Given the description of an element on the screen output the (x, y) to click on. 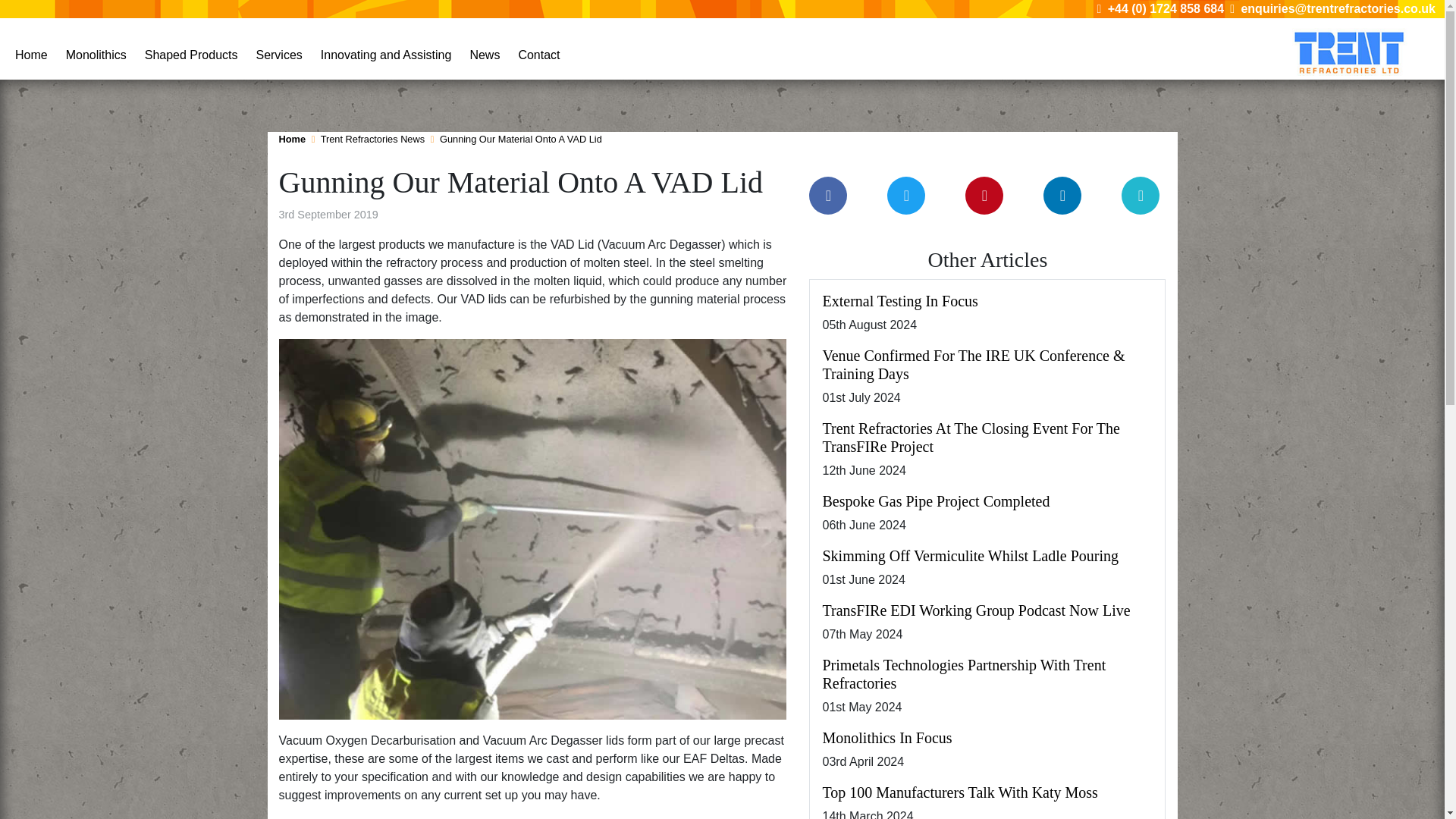
Trent Refractories Ltd - Fluid Thinking, Solid Results (1350, 51)
Trent Refractories Ltd Logo (1350, 51)
Monolithics (95, 52)
Shaped Products (191, 52)
Home (30, 52)
Services (277, 52)
